Given the description of an element on the screen output the (x, y) to click on. 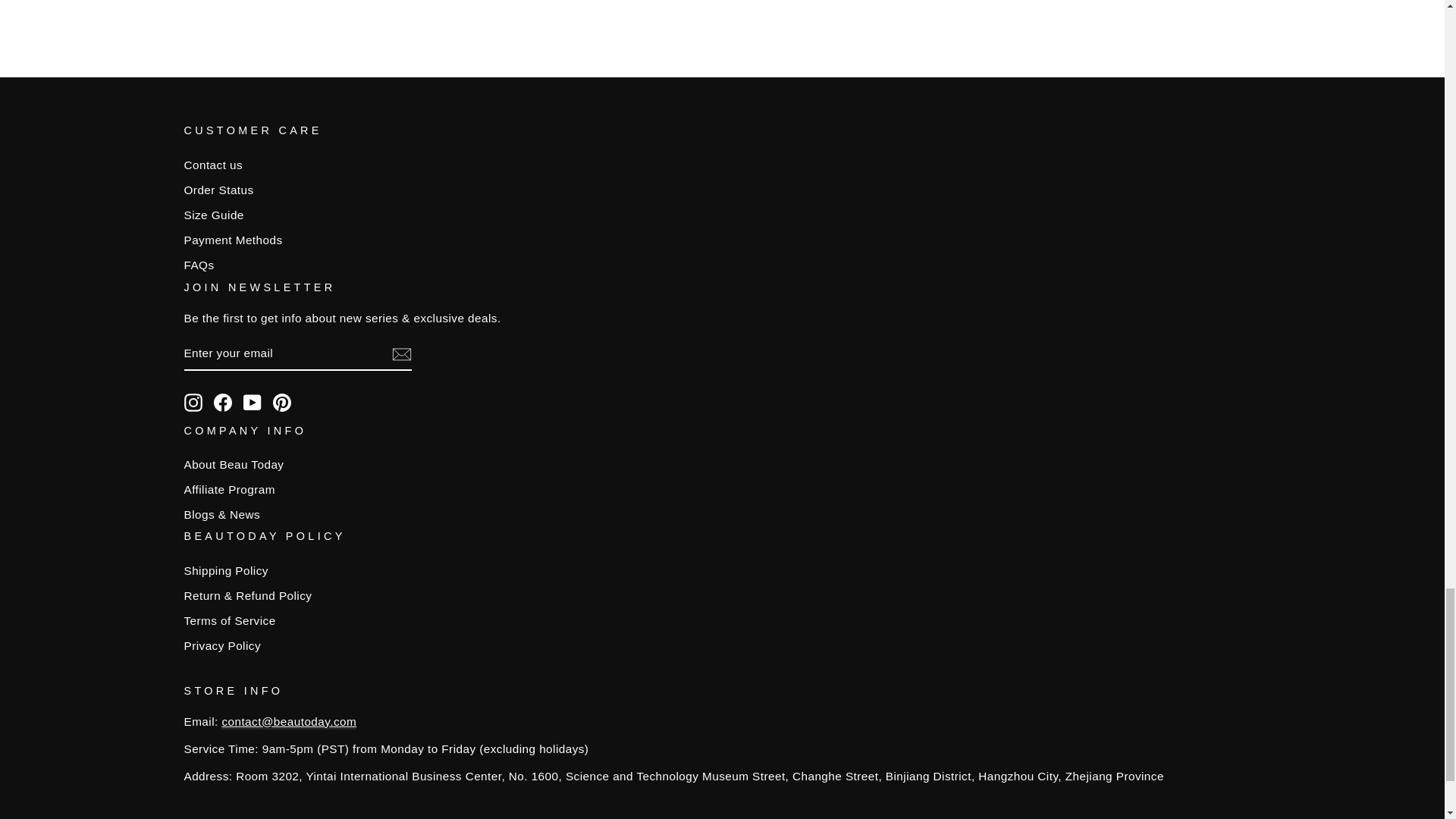
BEAU TODAY on Pinterest (282, 402)
BEAU TODAY on Instagram (192, 402)
BEAU TODAY on Facebook (222, 402)
BEAU TODAY on YouTube (251, 402)
